Given the description of an element on the screen output the (x, y) to click on. 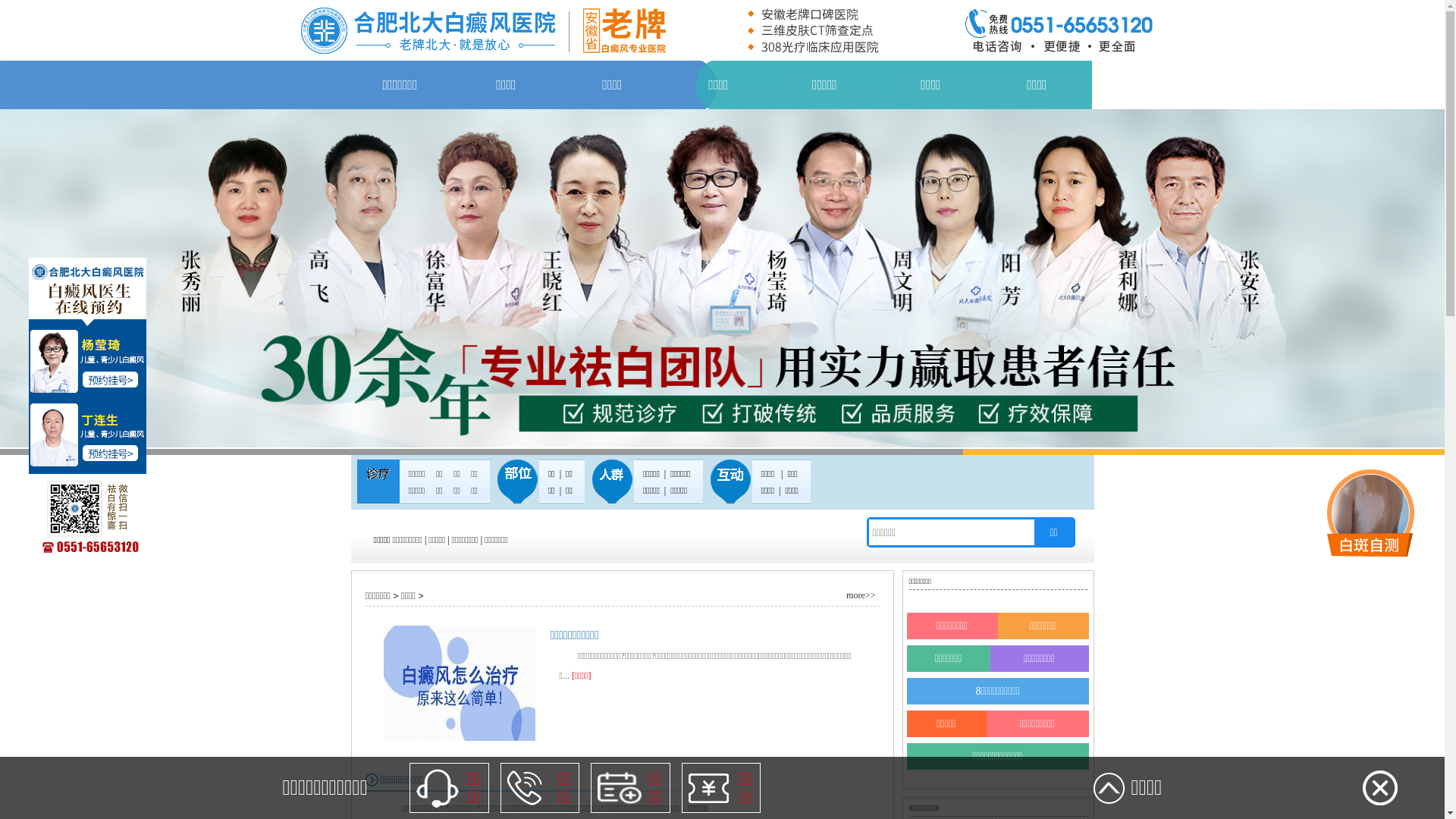
more>> Element type: text (851, 597)
d Element type: hover (459, 682)
pcright_piaochuang_bbzc Element type: hover (1369, 512)
